Given the description of an element on the screen output the (x, y) to click on. 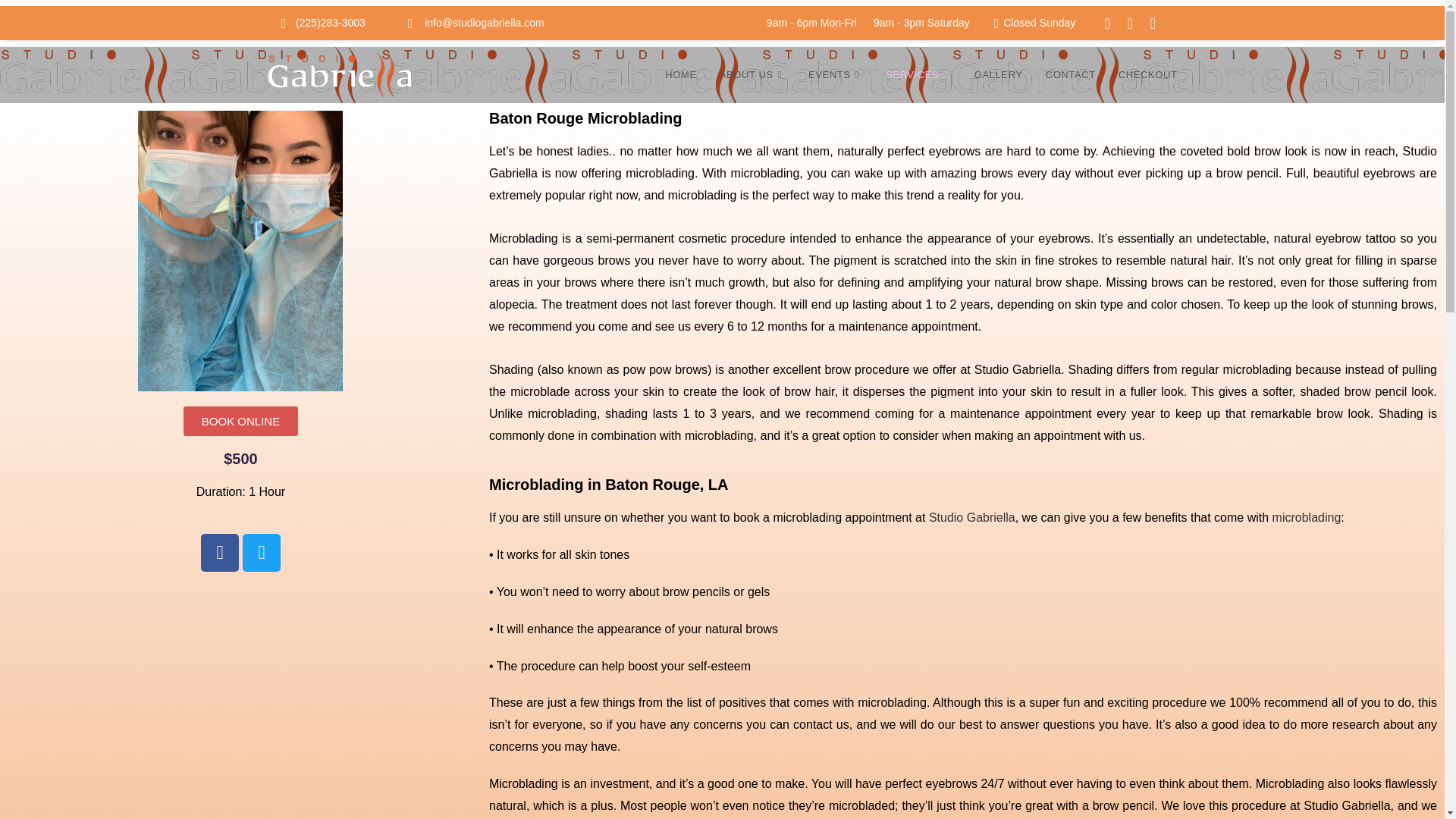
ABOUT US (751, 74)
EVENTS (835, 74)
CONTACT (1069, 74)
HOME (680, 74)
GALLERY (997, 74)
CHECKOUT (1147, 74)
SERVICES (918, 74)
